Given the description of an element on the screen output the (x, y) to click on. 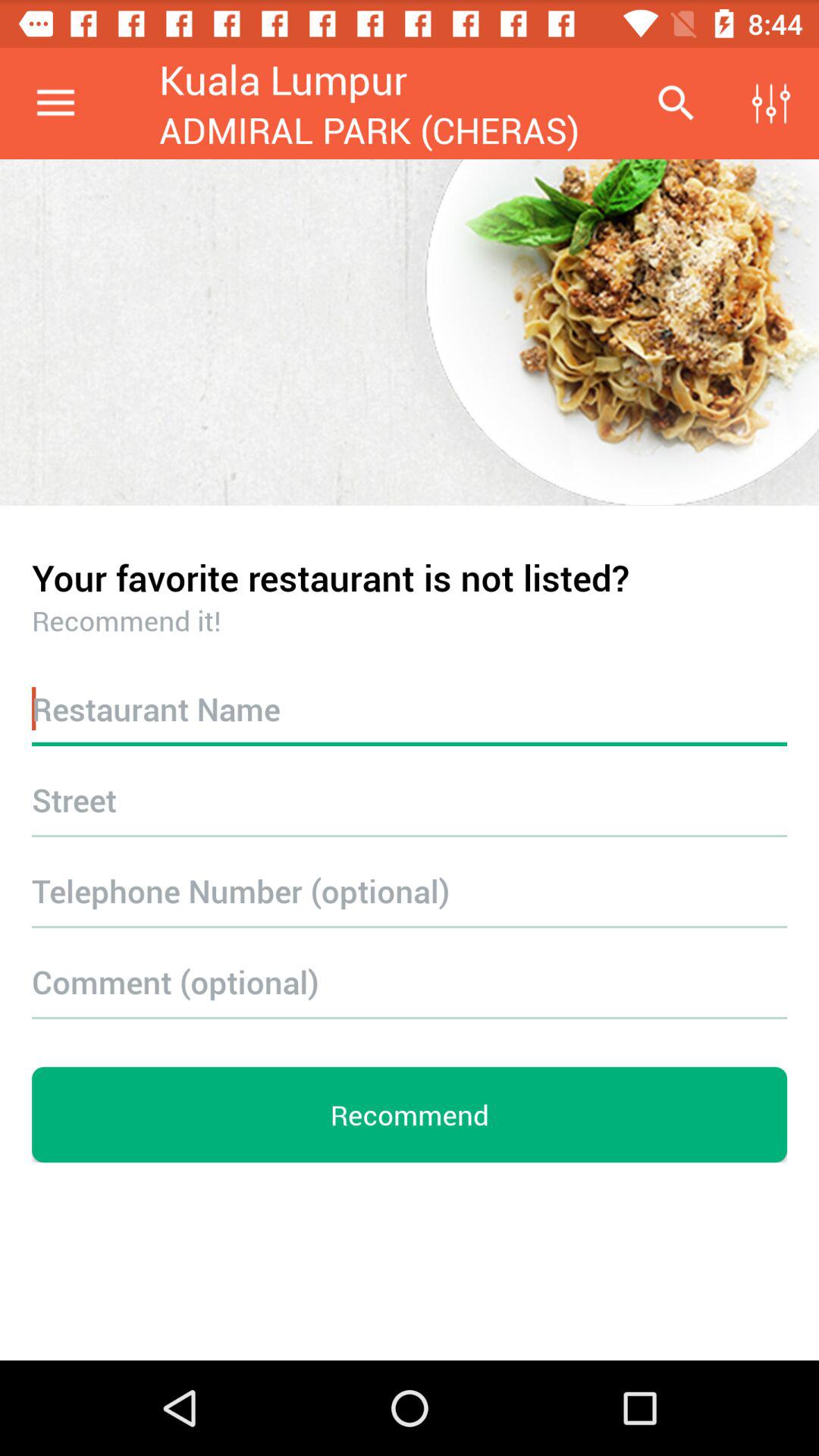
street address of restaurant (409, 799)
